Given the description of an element on the screen output the (x, y) to click on. 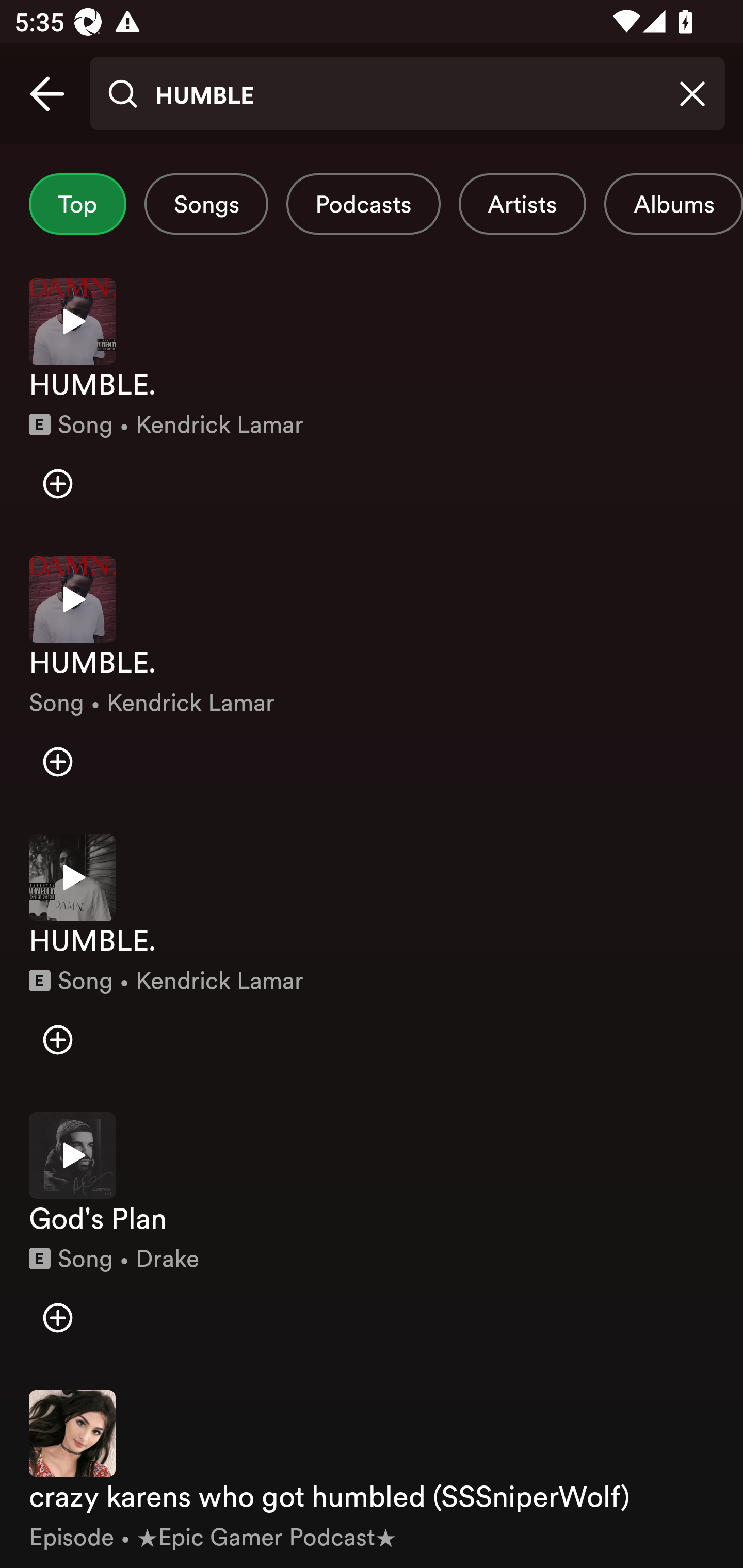
Back (46, 93)
HUMBLE Search (407, 94)
Clear Search (692, 94)
Top (77, 203)
Songs (206, 203)
Podcasts (363, 203)
Artists (522, 203)
Albums (673, 203)
Play preview (71, 321)
Add item (57, 483)
Play preview (71, 599)
Add item (57, 761)
Play preview (71, 877)
Add item (57, 1040)
Play preview (71, 1154)
Add item (57, 1317)
